Given the description of an element on the screen output the (x, y) to click on. 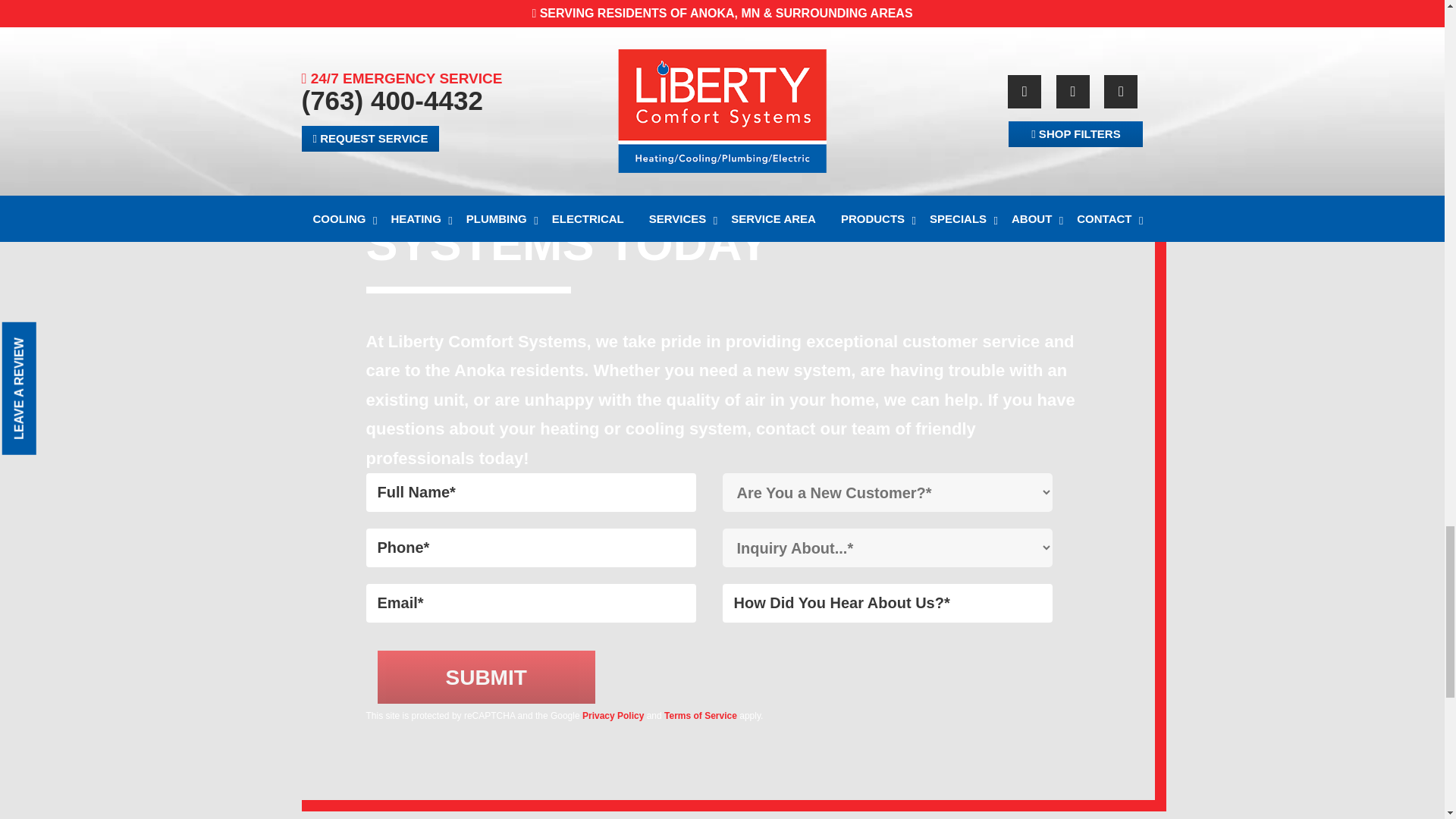
Submit (486, 676)
